Given the description of an element on the screen output the (x, y) to click on. 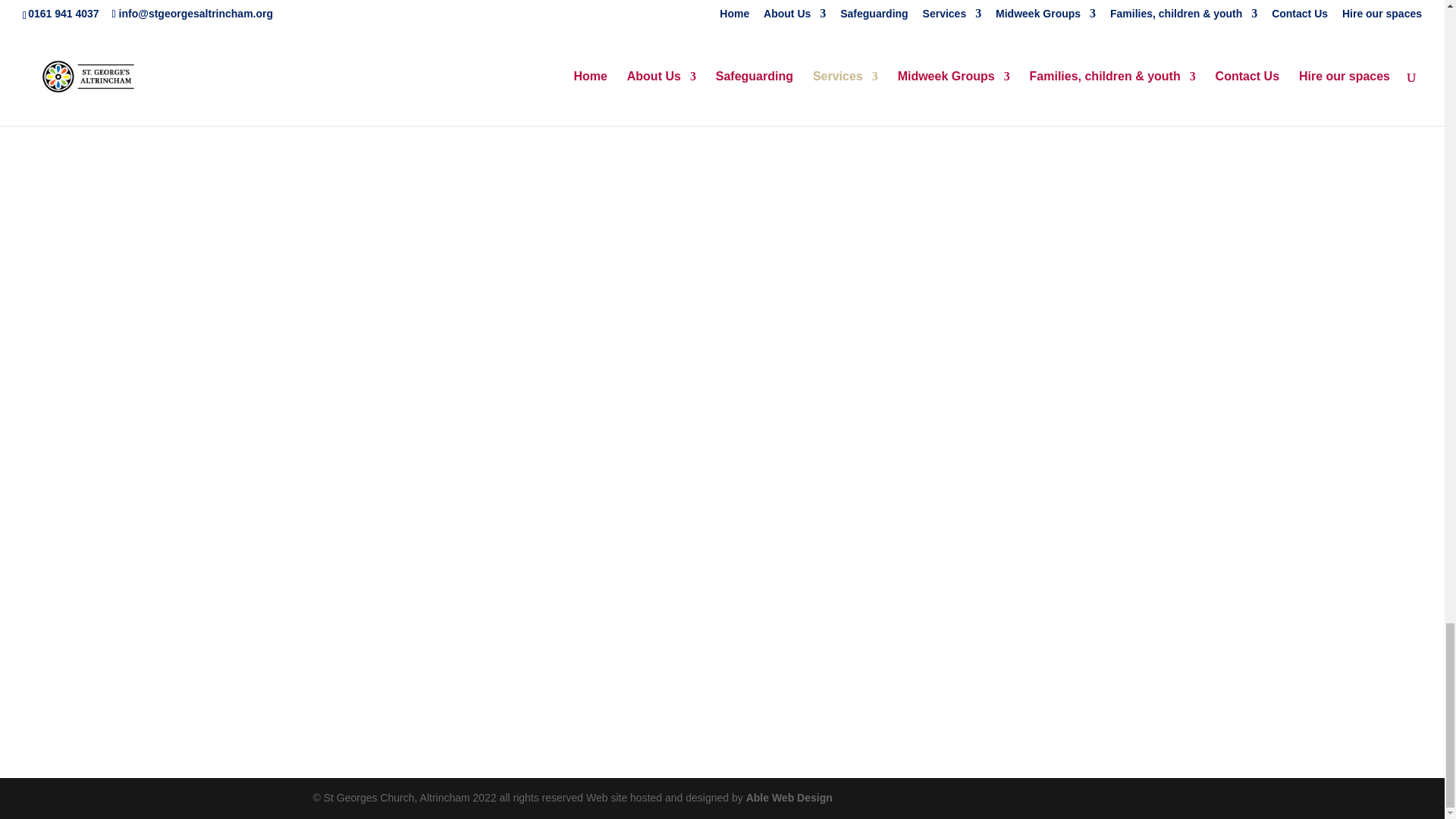
Posts by Claire Corley (357, 37)
